Given the description of an element on the screen output the (x, y) to click on. 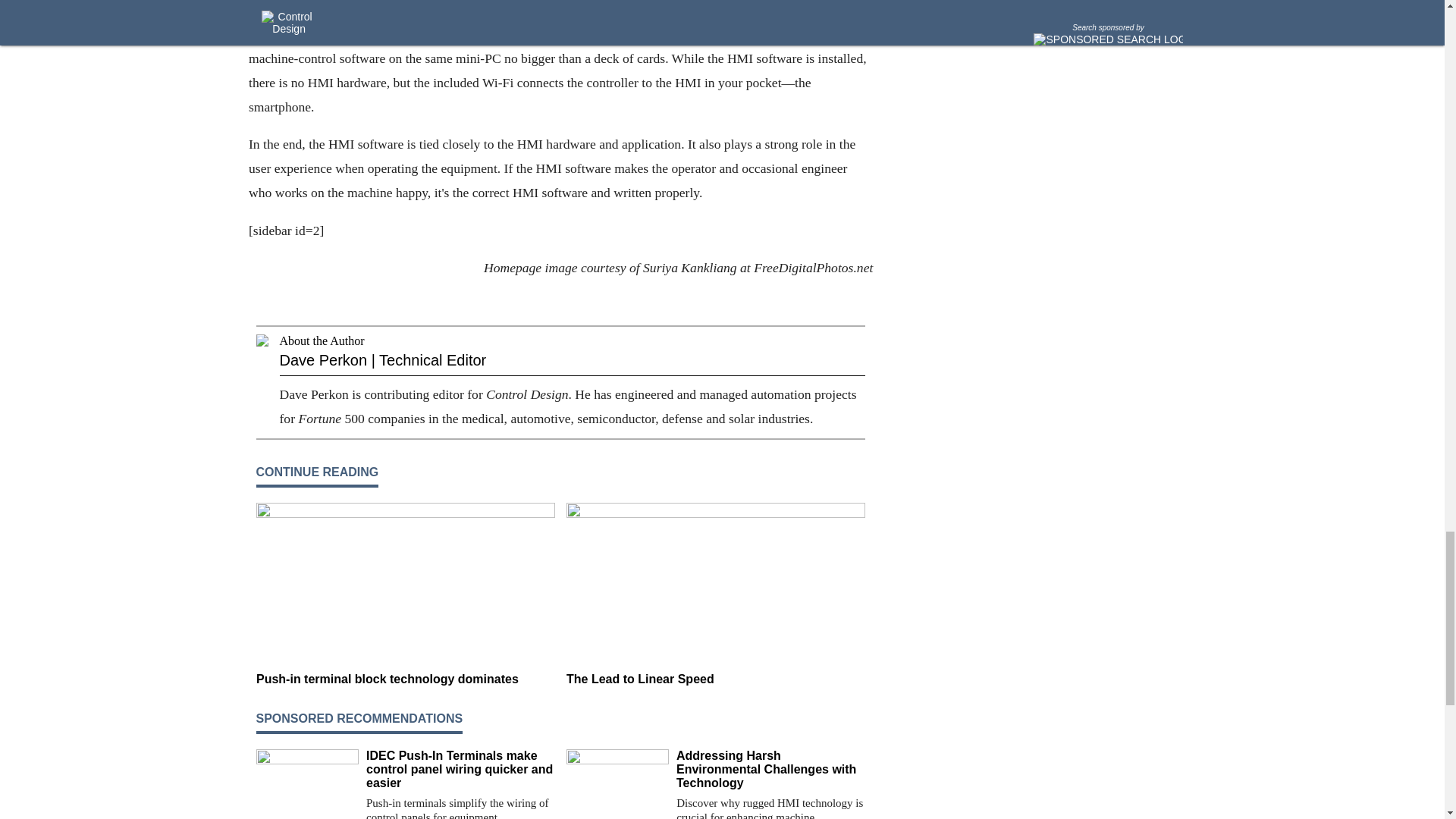
Push-in terminal block technology dominates (405, 679)
The Lead to Linear Speed (715, 679)
Addressing Harsh Environmental Challenges with Technology (770, 769)
